Given the description of an element on the screen output the (x, y) to click on. 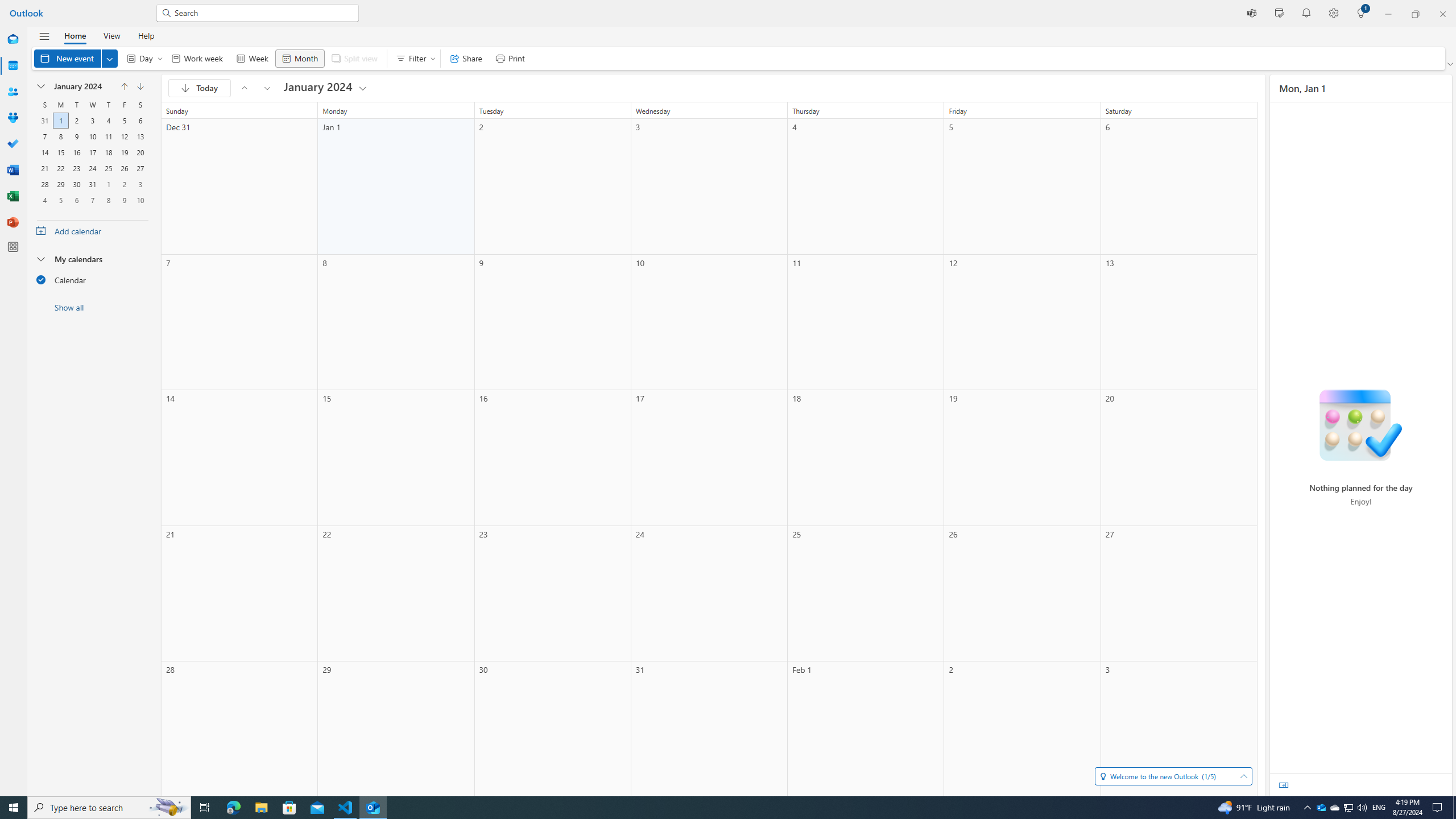
Hide navigation pane (44, 36)
Calendar (92, 279)
18, January, 2024 (108, 152)
24, January, 2024 (92, 168)
4, February, 2024 (44, 200)
Go to today August 27, 2024 (199, 88)
14, January, 2024 (44, 151)
18, January, 2024 (108, 151)
January 2024 (326, 88)
2, January, 2024 (76, 120)
Expand to see more Day options (159, 58)
4, January, 2024 (108, 120)
